Given the description of an element on the screen output the (x, y) to click on. 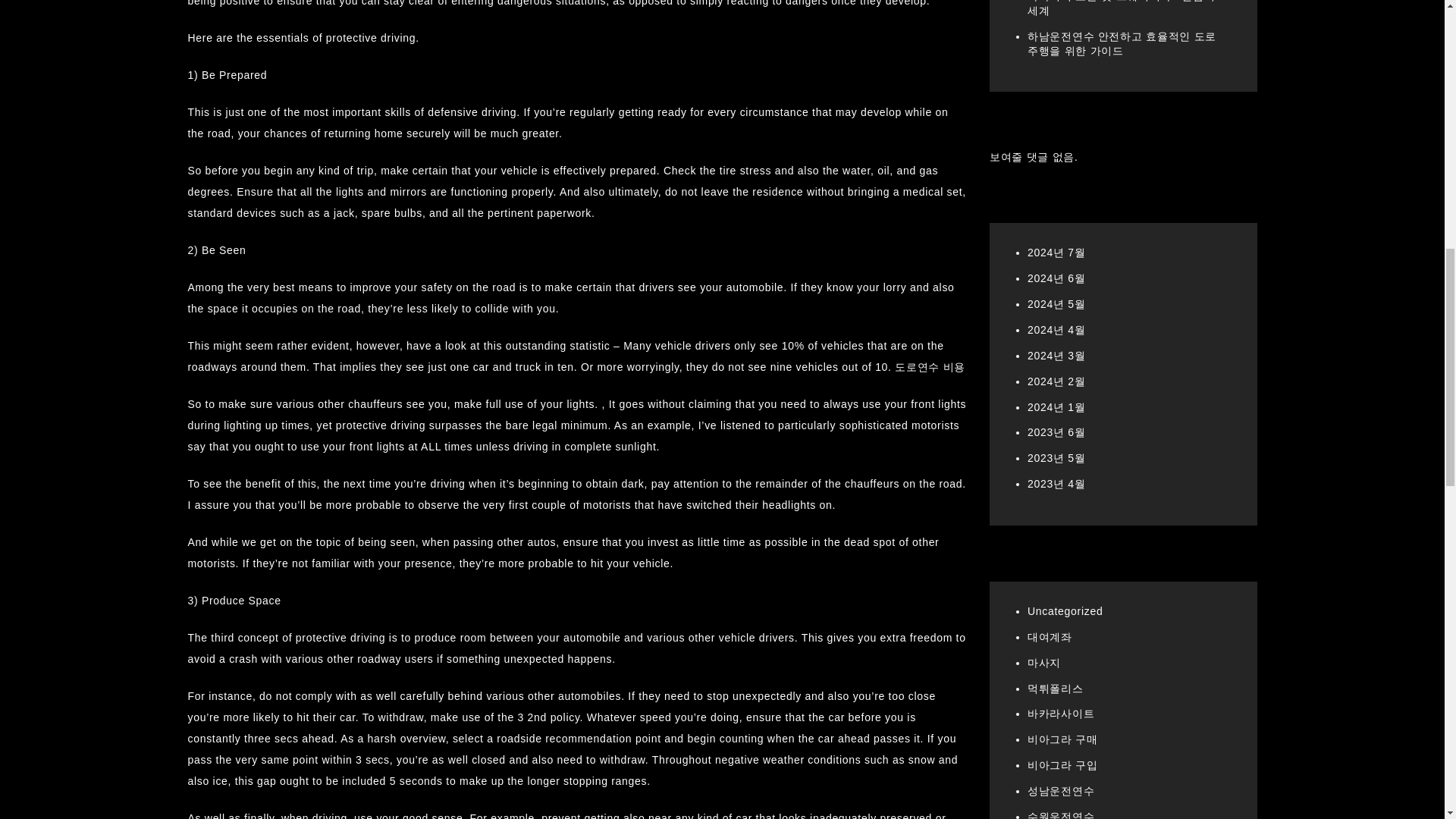
Uncategorized (1064, 221)
